Given the description of an element on the screen output the (x, y) to click on. 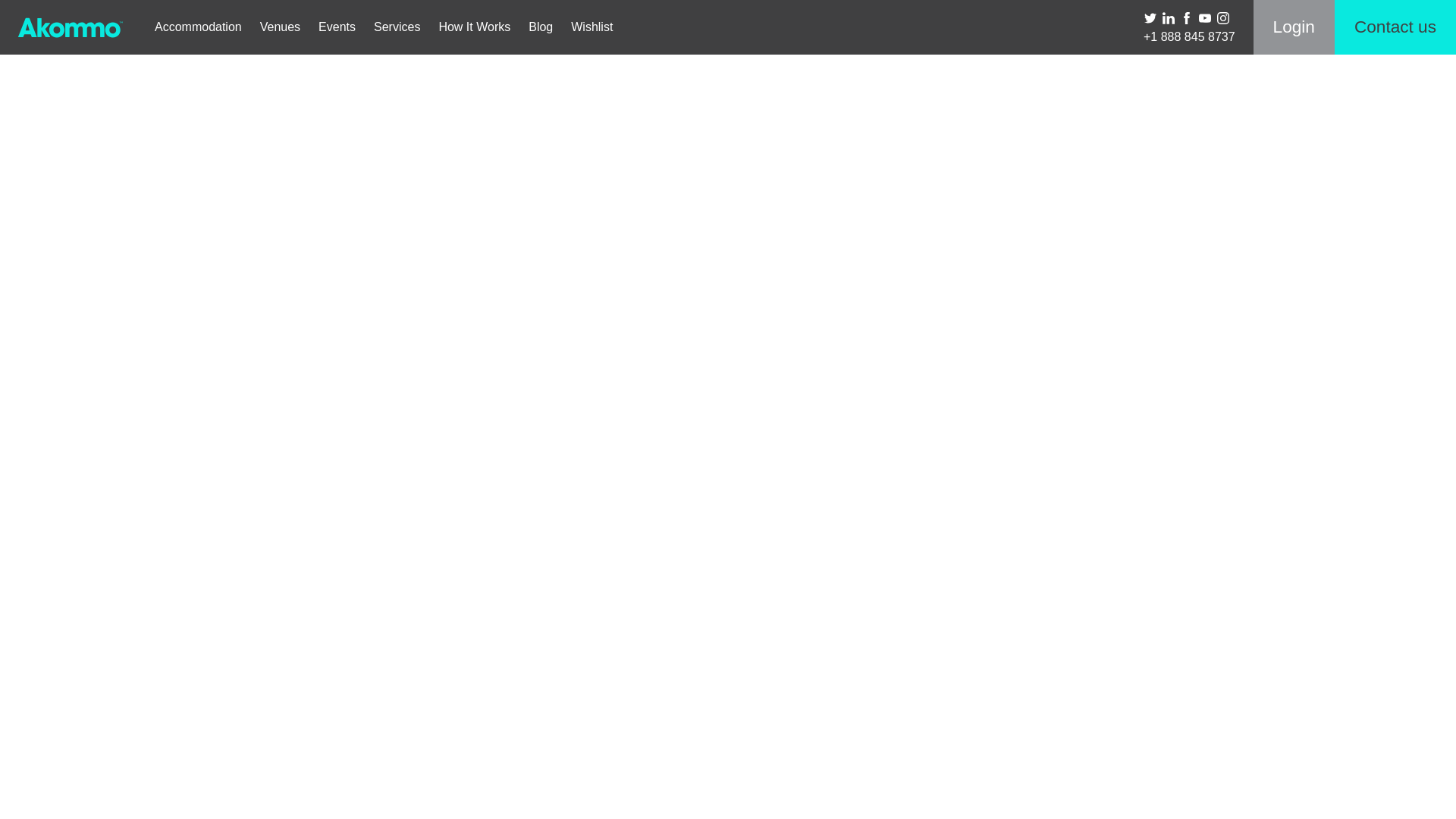
Events (336, 27)
Akommo on twitter (1150, 15)
Blog (540, 27)
Akommo on instagram (1222, 15)
Akommo on linkedin (1167, 15)
Services (397, 27)
Akommo on youtube (1204, 15)
How It Works (474, 27)
Wishlist (591, 27)
Akommo on facebook (1186, 15)
